Given the description of an element on the screen output the (x, y) to click on. 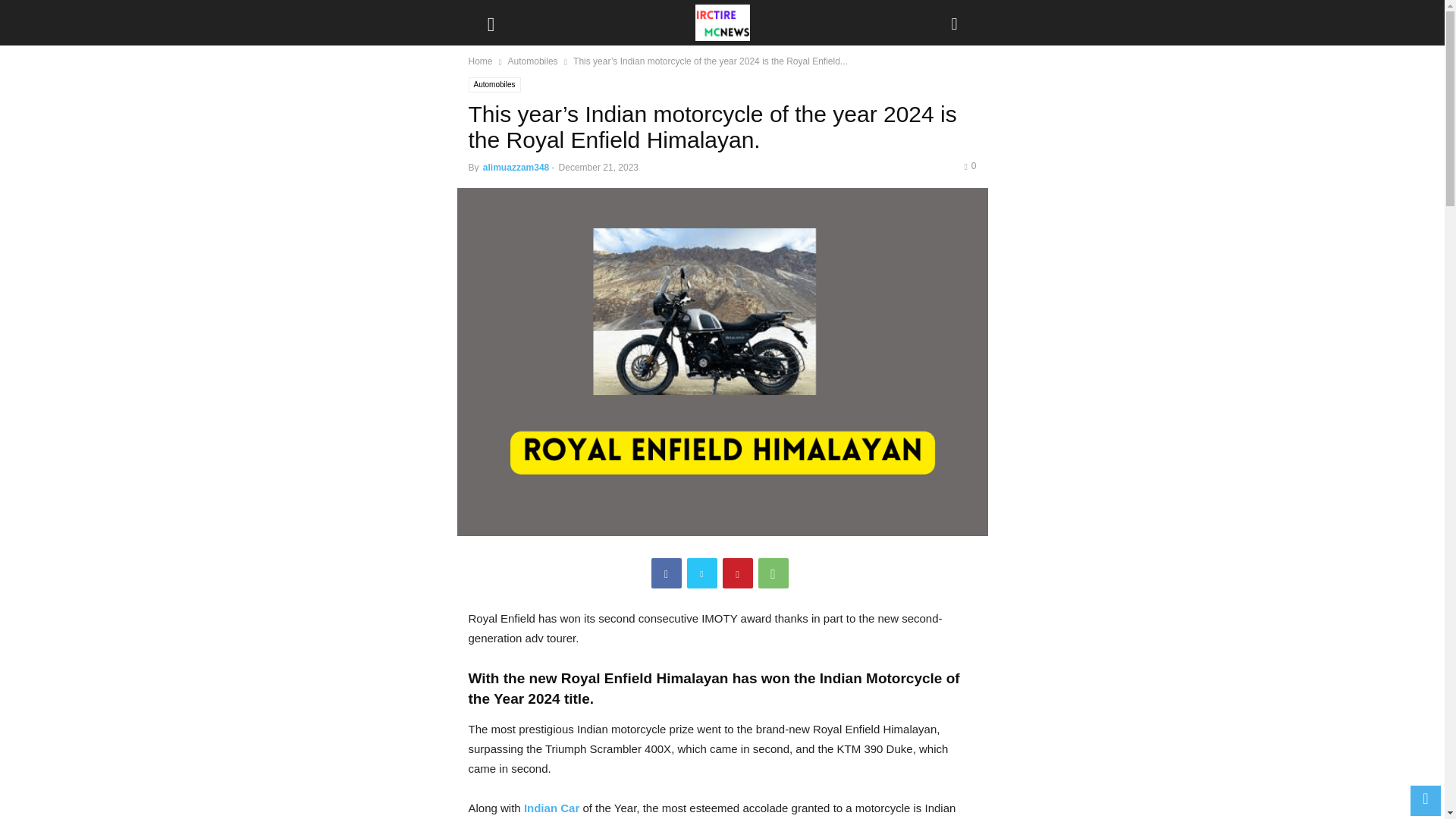
0 (969, 165)
Home (480, 61)
Facebook (665, 572)
View all posts in Automobiles (532, 61)
IRCTIRE MCNEWS (721, 22)
Automobiles (494, 84)
alimuazzam348 (515, 167)
Indian Car (553, 807)
Automobiles (532, 61)
Twitter (702, 572)
Pinterest (737, 572)
IRCTIRE MCNEWS (722, 22)
WhatsApp (773, 572)
Royal Enfield Himalayan (644, 678)
